Given the description of an element on the screen output the (x, y) to click on. 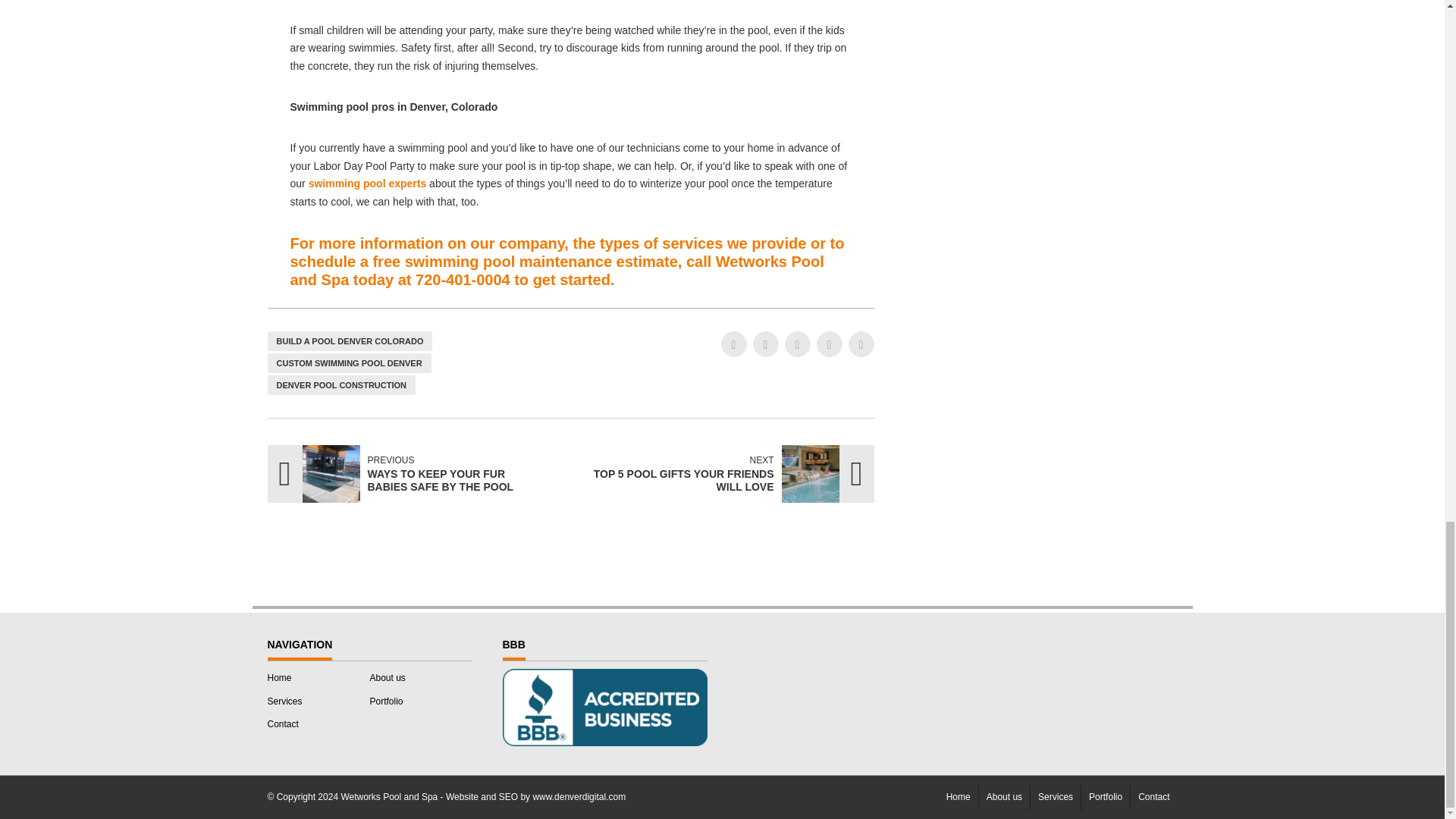
VK (860, 344)
Twitter (764, 344)
WhatsApp (828, 344)
swimming pool experts (367, 183)
Facebook (732, 344)
DENVER POOL CONSTRUCTION (392, 473)
free swimming pool maintenance estimate (340, 384)
CUSTOM SWIMMING POOL DENVER (725, 473)
BUILD A POOL DENVER COLORADO (524, 261)
LinkedIn (348, 362)
